Given the description of an element on the screen output the (x, y) to click on. 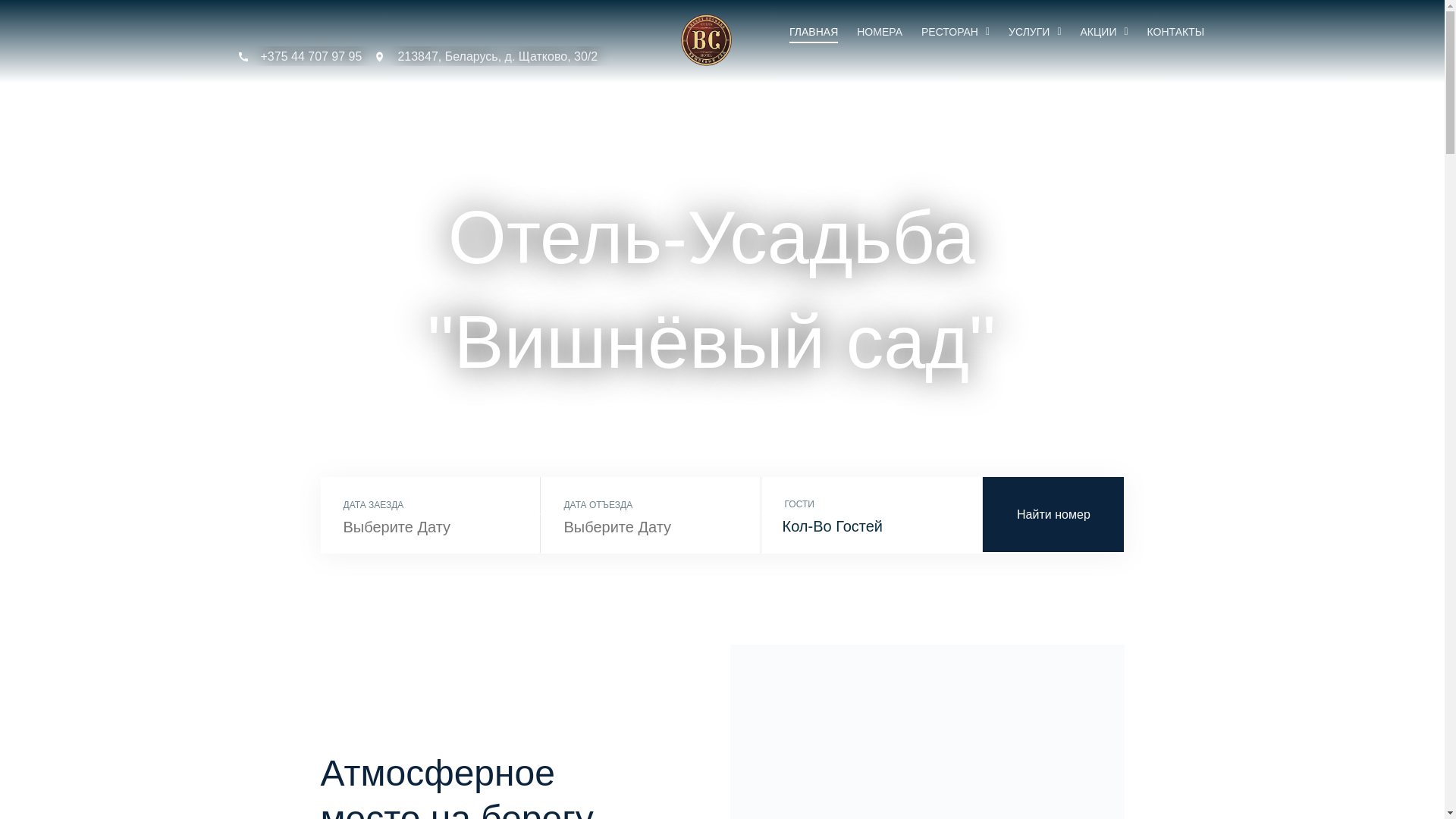
+375 44 707 97 95 Element type: text (298, 56)
